Given the description of an element on the screen output the (x, y) to click on. 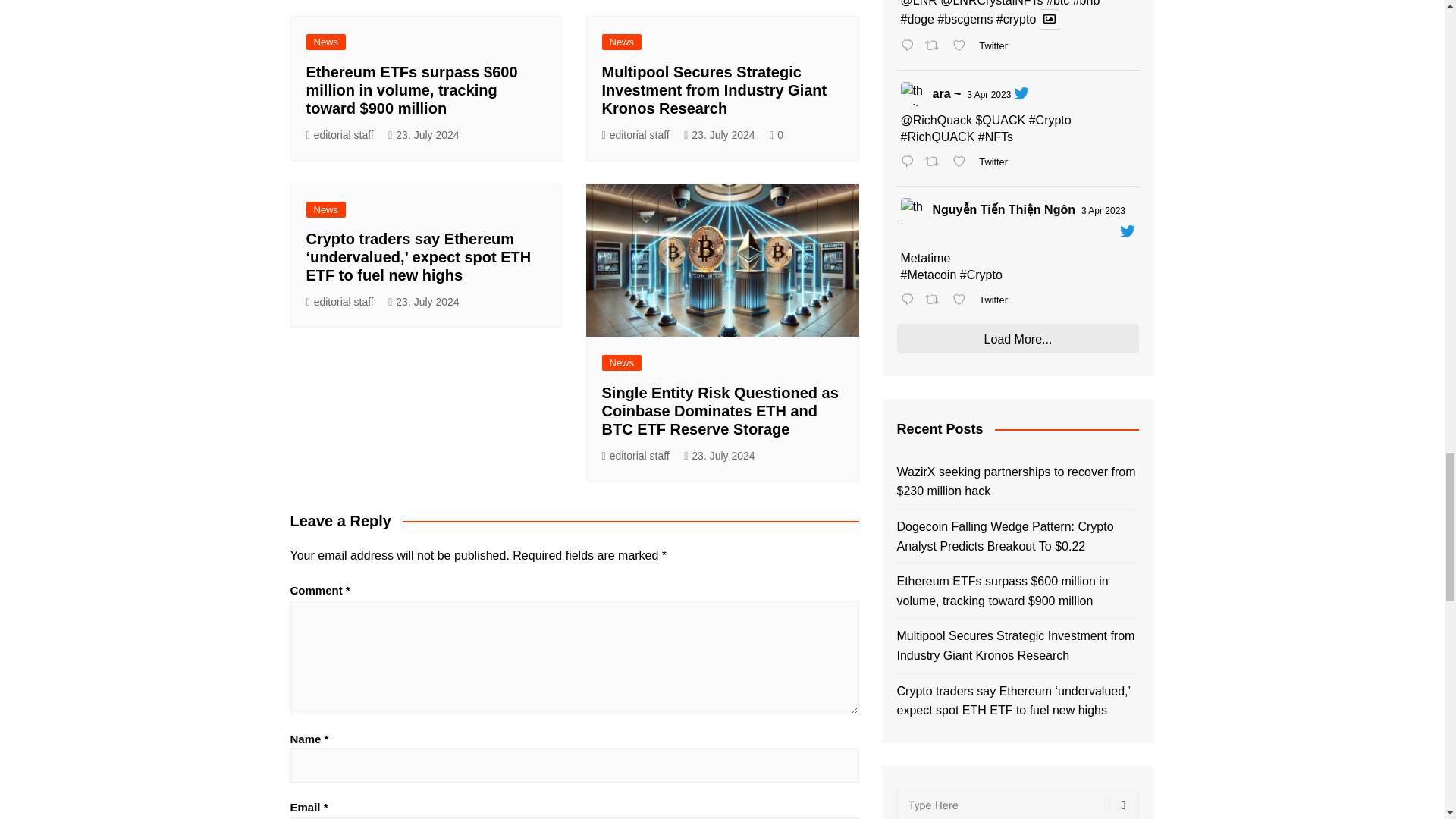
23. July 2024 (423, 135)
News (325, 41)
News (622, 41)
editorial staff (339, 135)
editorial staff (635, 135)
